Given the description of an element on the screen output the (x, y) to click on. 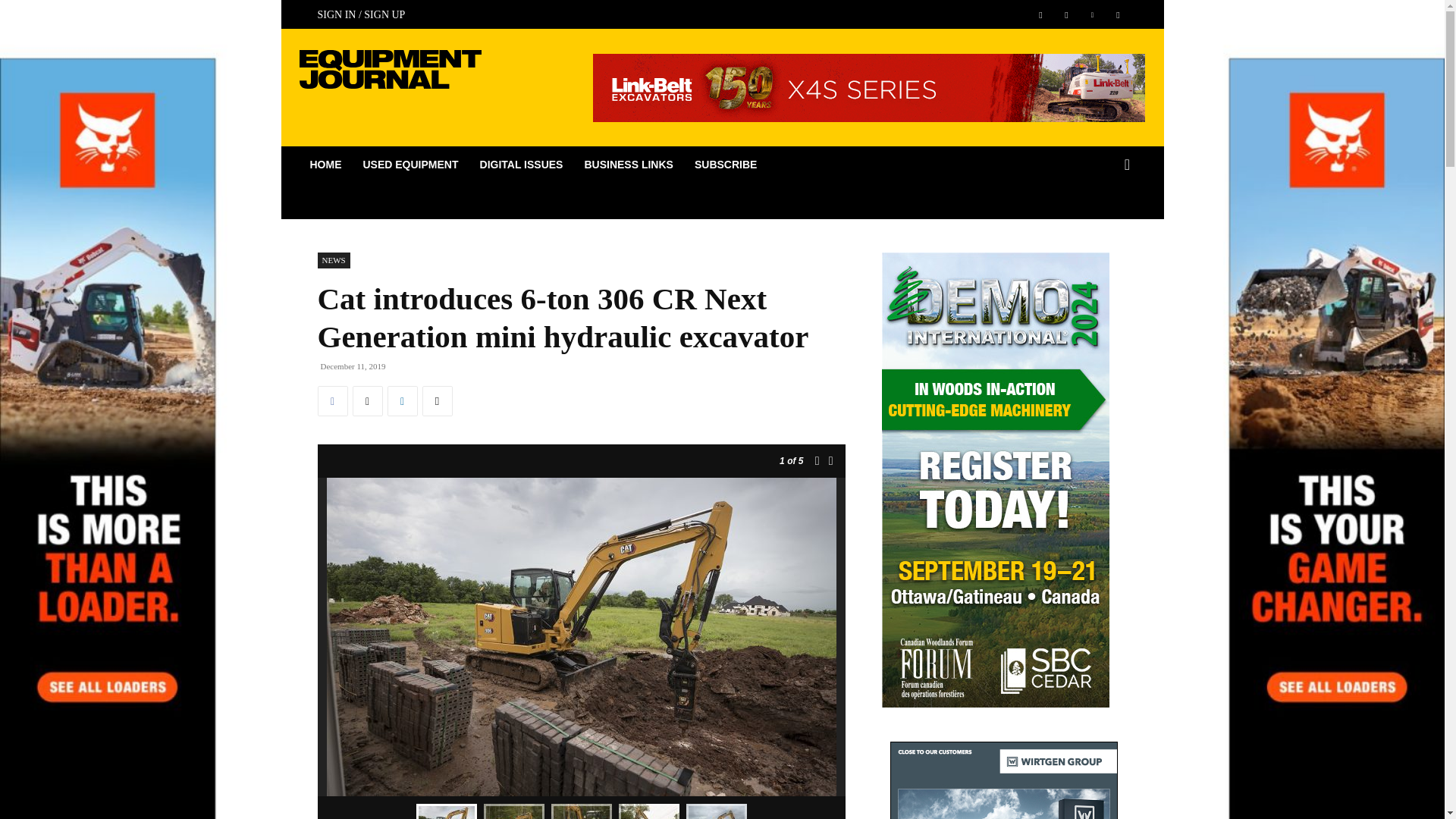
SUBSCRIBE (725, 164)
Instagram (1066, 13)
NEWS (333, 260)
Twitter (1117, 13)
Facebook (1039, 13)
Twitter (366, 400)
BUSINESS LINKS (627, 164)
Linkedin (1091, 13)
DIGITAL ISSUES (520, 164)
Facebook (332, 400)
USED EQUIPMENT (410, 164)
HOME (325, 164)
